Given the description of an element on the screen output the (x, y) to click on. 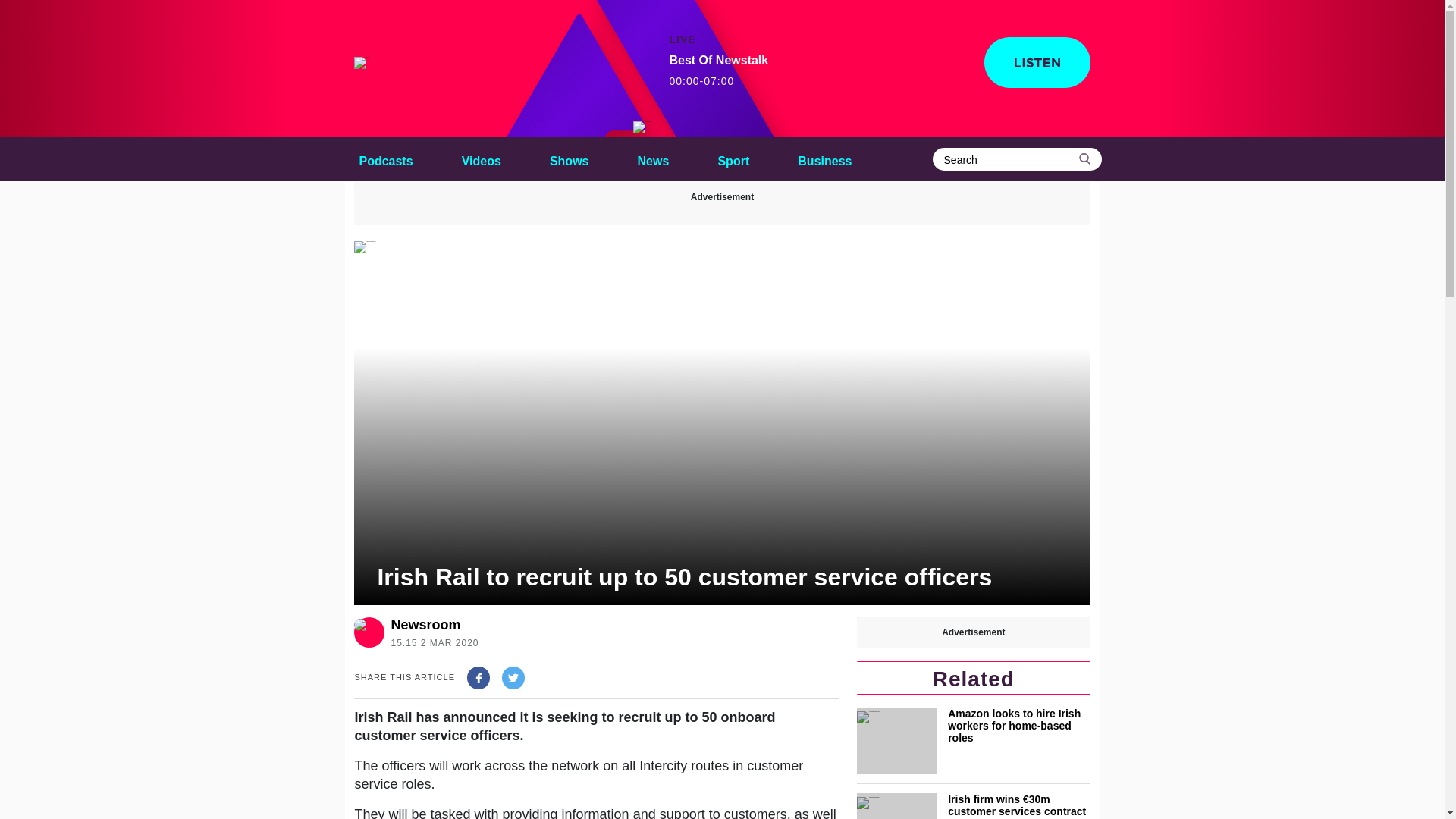
Shows (569, 158)
Amazon looks to hire Irish workers for home-based roles (973, 740)
Podcasts (384, 158)
Sport (733, 158)
News (653, 158)
Sport (733, 158)
Business (824, 158)
News (653, 158)
